Given the description of an element on the screen output the (x, y) to click on. 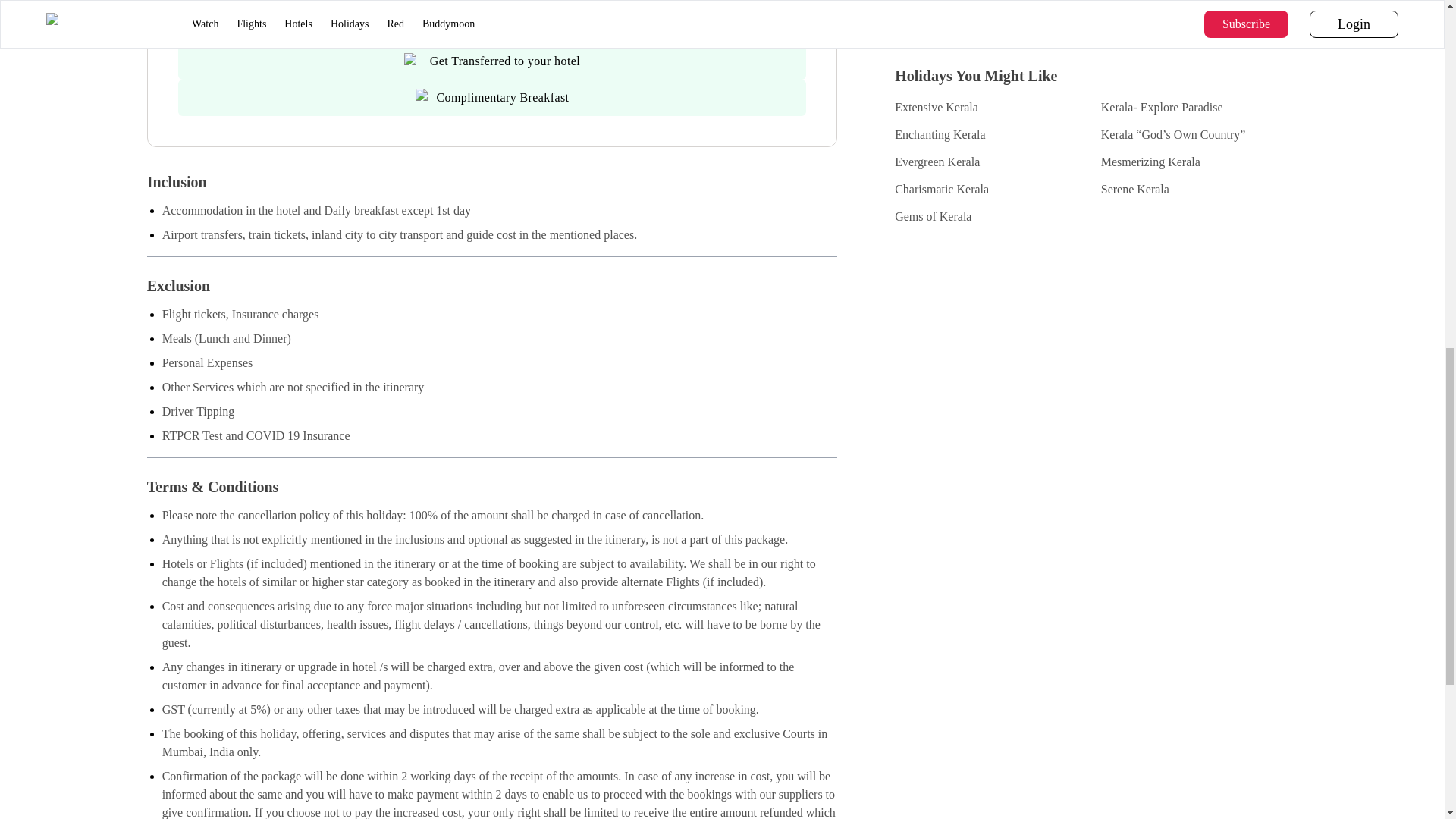
Gems of Kerala (993, 217)
Extensive Kerala (993, 107)
Serene Kerala (1199, 189)
Enchanting Kerala (993, 135)
Evergreen Kerala (993, 162)
Charismatic Kerala (993, 189)
Kerala- Explore Paradise (1199, 107)
Mesmerizing Kerala (1199, 162)
